Given the description of an element on the screen output the (x, y) to click on. 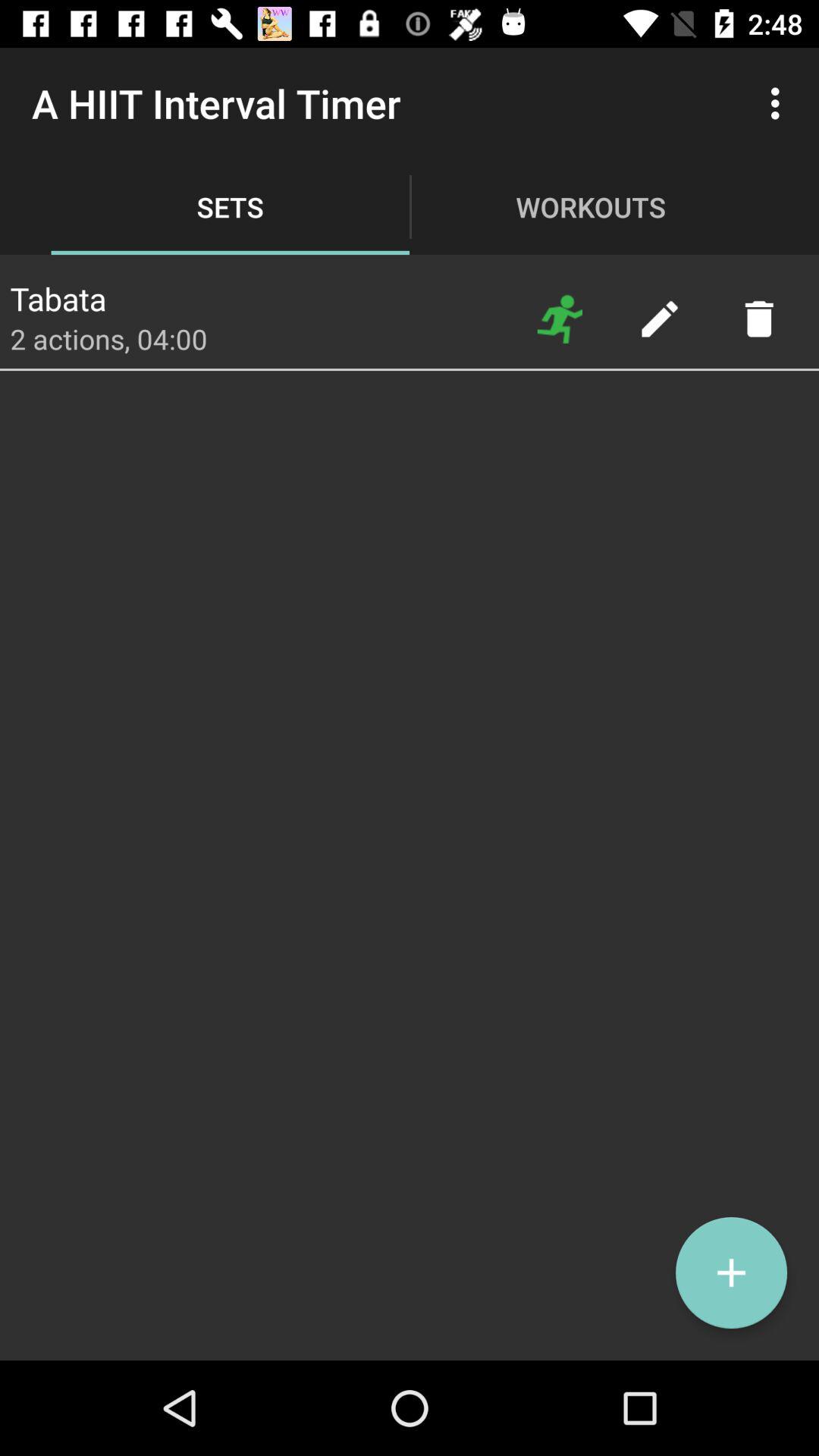
delete (758, 318)
